Given the description of an element on the screen output the (x, y) to click on. 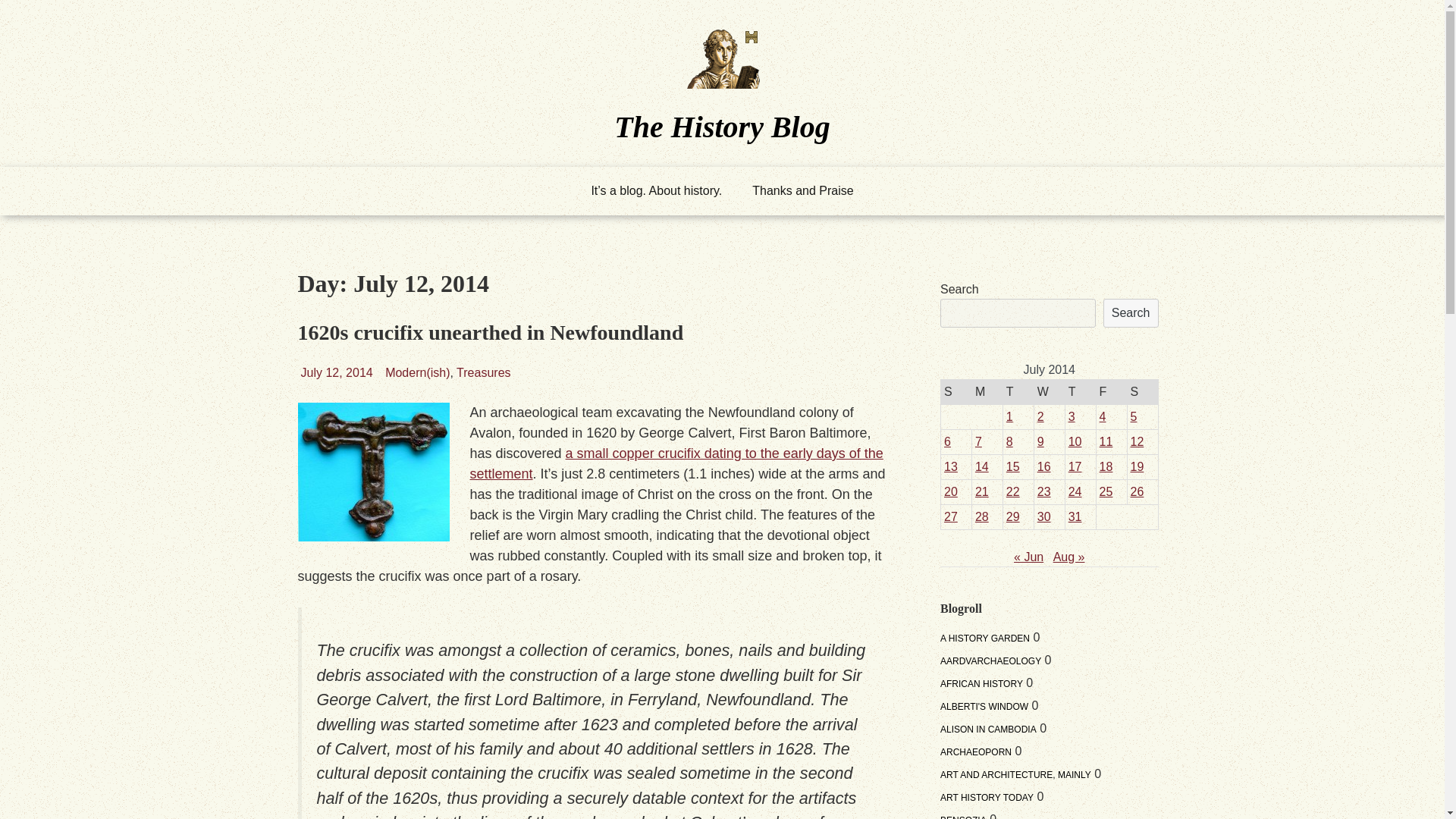
17 (1074, 466)
10 (1074, 440)
15 (1013, 466)
14 (981, 466)
19 (1137, 466)
16 (1043, 466)
11 (1106, 440)
1620s crucifix unearthed in Newfoundland (489, 332)
22 (1013, 491)
Wednesday (1048, 391)
